Given the description of an element on the screen output the (x, y) to click on. 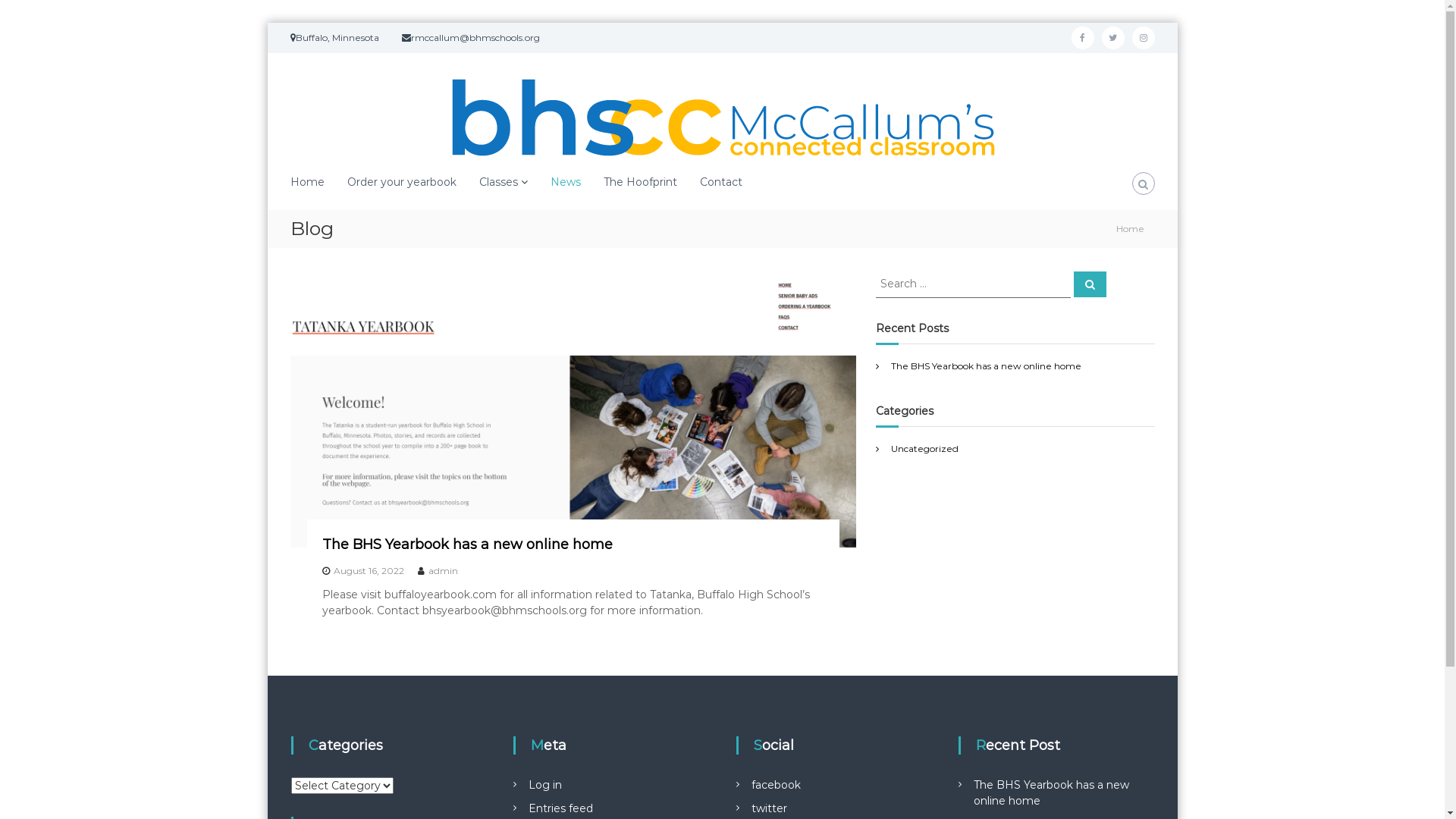
twitter Element type: text (1112, 37)
facebook Element type: text (1081, 37)
Skip to content Element type: text (266, 21)
admin Element type: text (443, 570)
August 16, 2022 Element type: text (368, 570)
Search Element type: text (1089, 284)
Log in Element type: text (544, 784)
facebook Element type: text (775, 784)
Order your yearbook Element type: text (401, 181)
News Element type: text (565, 181)
Entries feed Element type: text (560, 808)
instagram Element type: text (1142, 37)
Home Element type: text (306, 181)
The BHS Yearbook has a new online home Element type: text (467, 544)
Classes Element type: text (498, 181)
The Hoofprint Element type: text (640, 181)
Uncategorized Element type: text (924, 448)
McCallum's Connected Classroom Element type: text (307, 411)
The BHS Yearbook has a new online home Element type: text (1051, 792)
Home Element type: text (1129, 228)
twitter Element type: text (769, 808)
Contact Element type: text (720, 181)
The BHS Yearbook has a new online home Element type: text (986, 364)
